Given the description of an element on the screen output the (x, y) to click on. 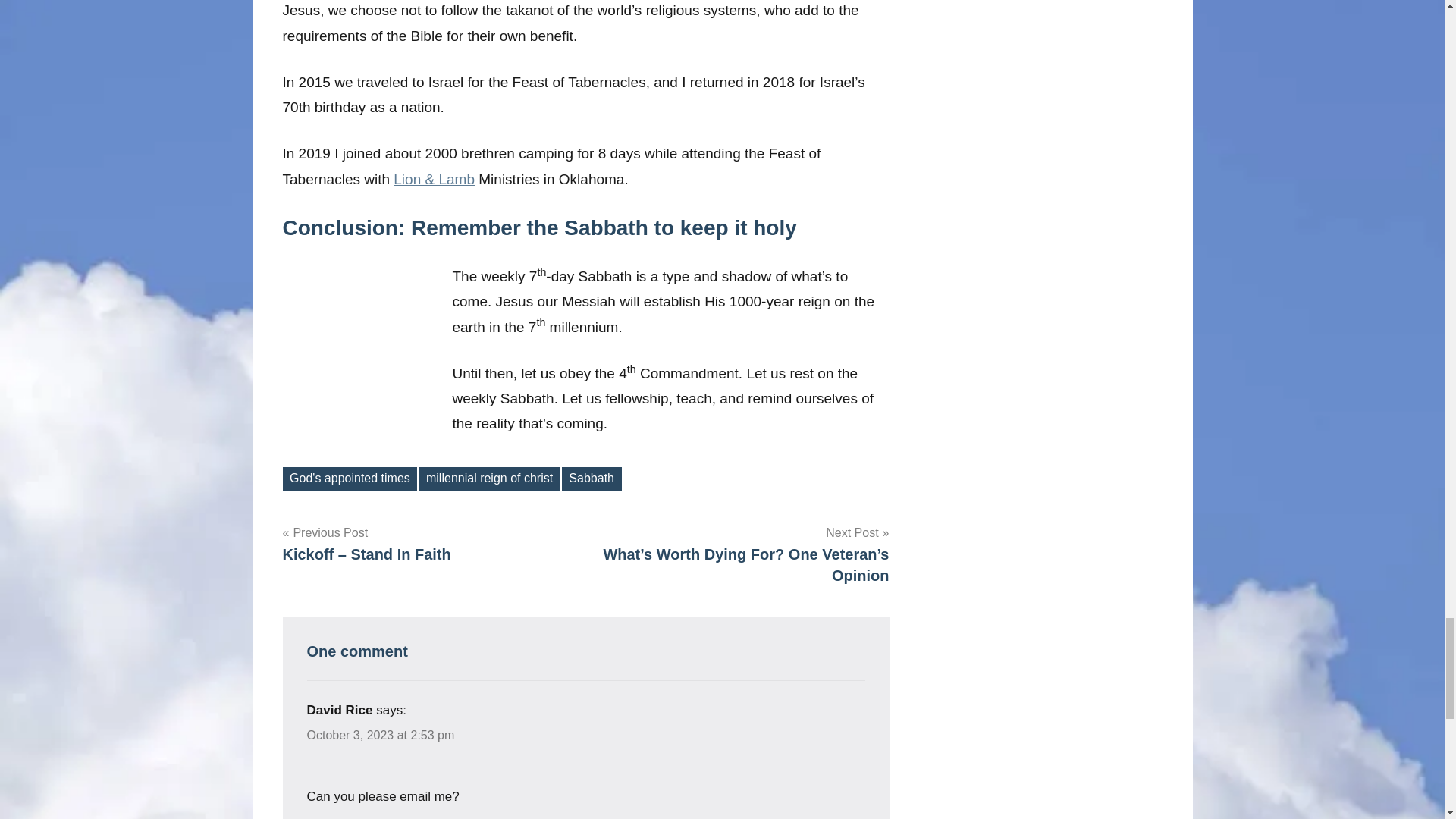
millennial reign of christ (489, 478)
October 3, 2023 at 2:53 pm (379, 735)
God's appointed times (349, 478)
Sabbath (591, 478)
